Given the description of an element on the screen output the (x, y) to click on. 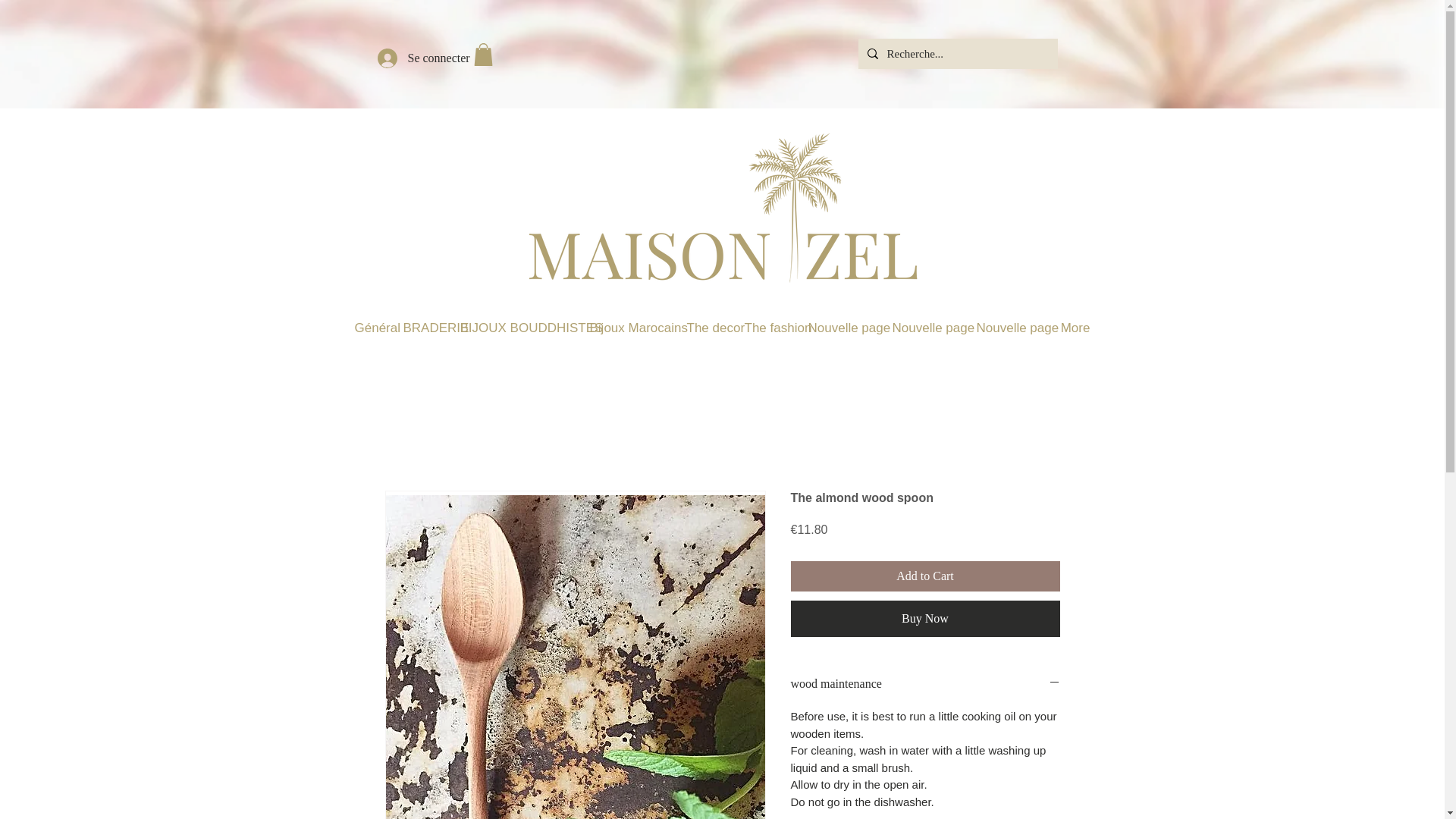
BIJOUX BOUDDHISTES (523, 328)
Nouvelle page (931, 328)
Design sans titre-2.jpg (721, 212)
BRADERIE (430, 328)
Nouvelle page (1017, 328)
The fashion (774, 328)
Bijoux Marocains (636, 328)
Nouvelle page (848, 328)
Se connecter (412, 58)
The decor (714, 328)
